Given the description of an element on the screen output the (x, y) to click on. 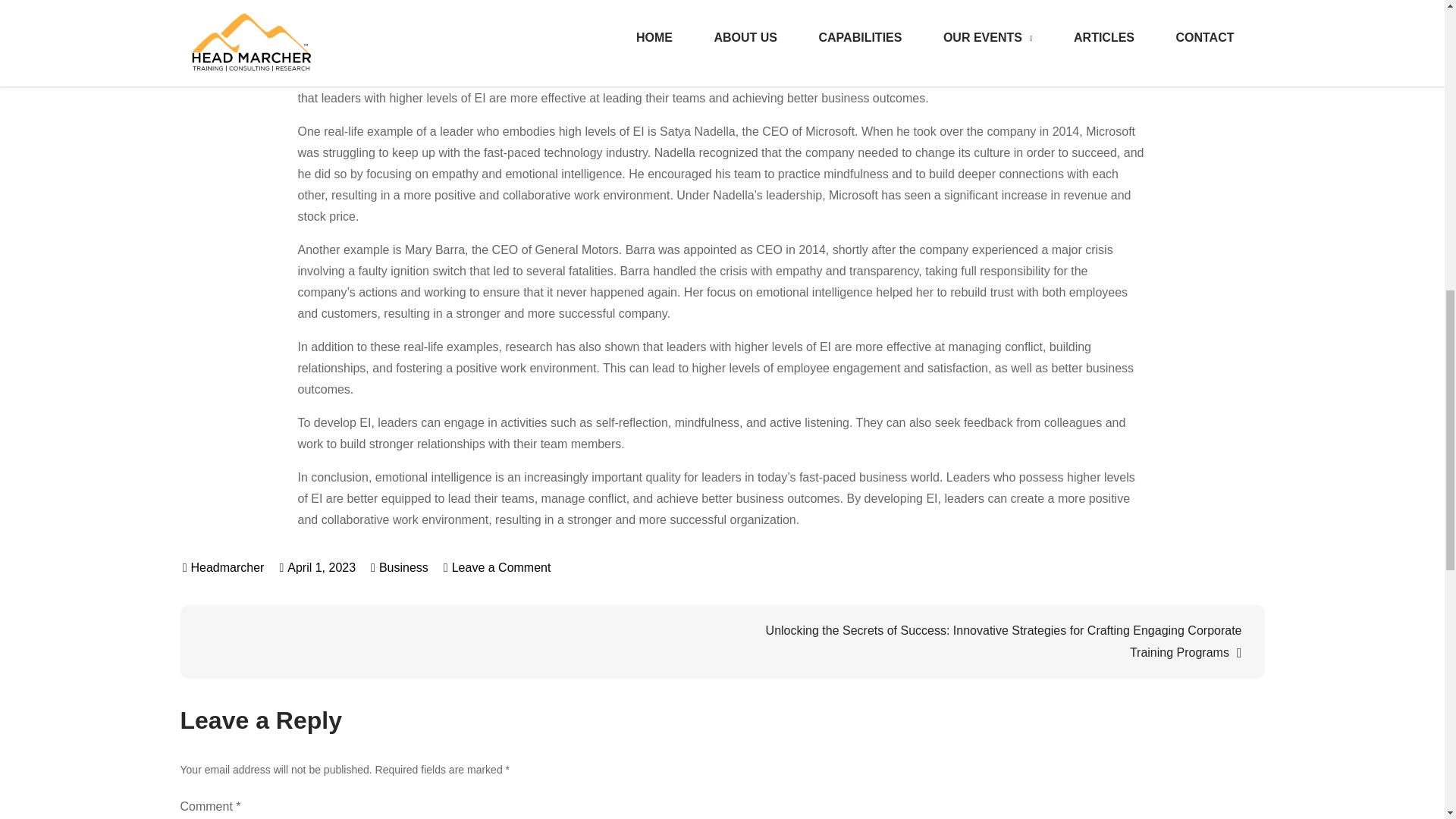
Leave a Comment (497, 567)
Headmarcher (223, 567)
April 1, 2023 (317, 567)
Business (403, 567)
